Given the description of an element on the screen output the (x, y) to click on. 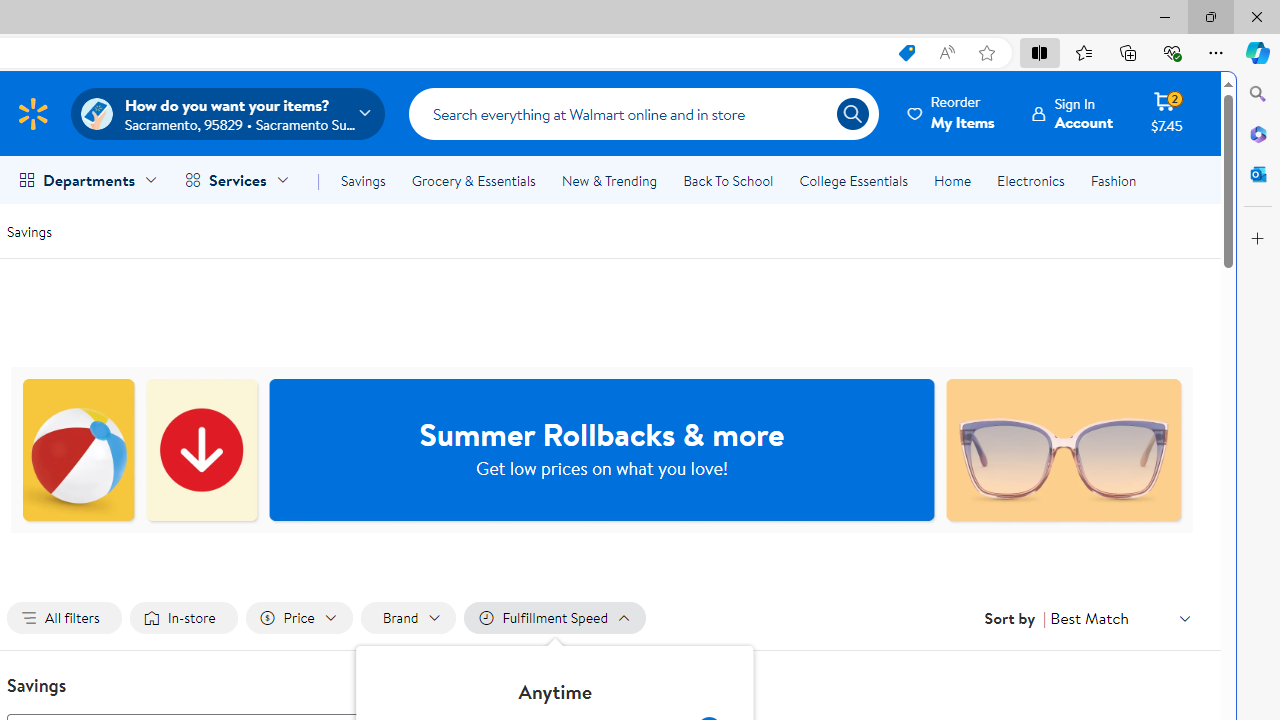
Savings (363, 180)
Back To School (728, 180)
Fashion (1113, 180)
Sort by Best Match (1120, 618)
Summer Rollbacks & more Get low prices on what you love! (601, 449)
This site has coupons! Shopping in Microsoft Edge, 7 (906, 53)
